Given the description of an element on the screen output the (x, y) to click on. 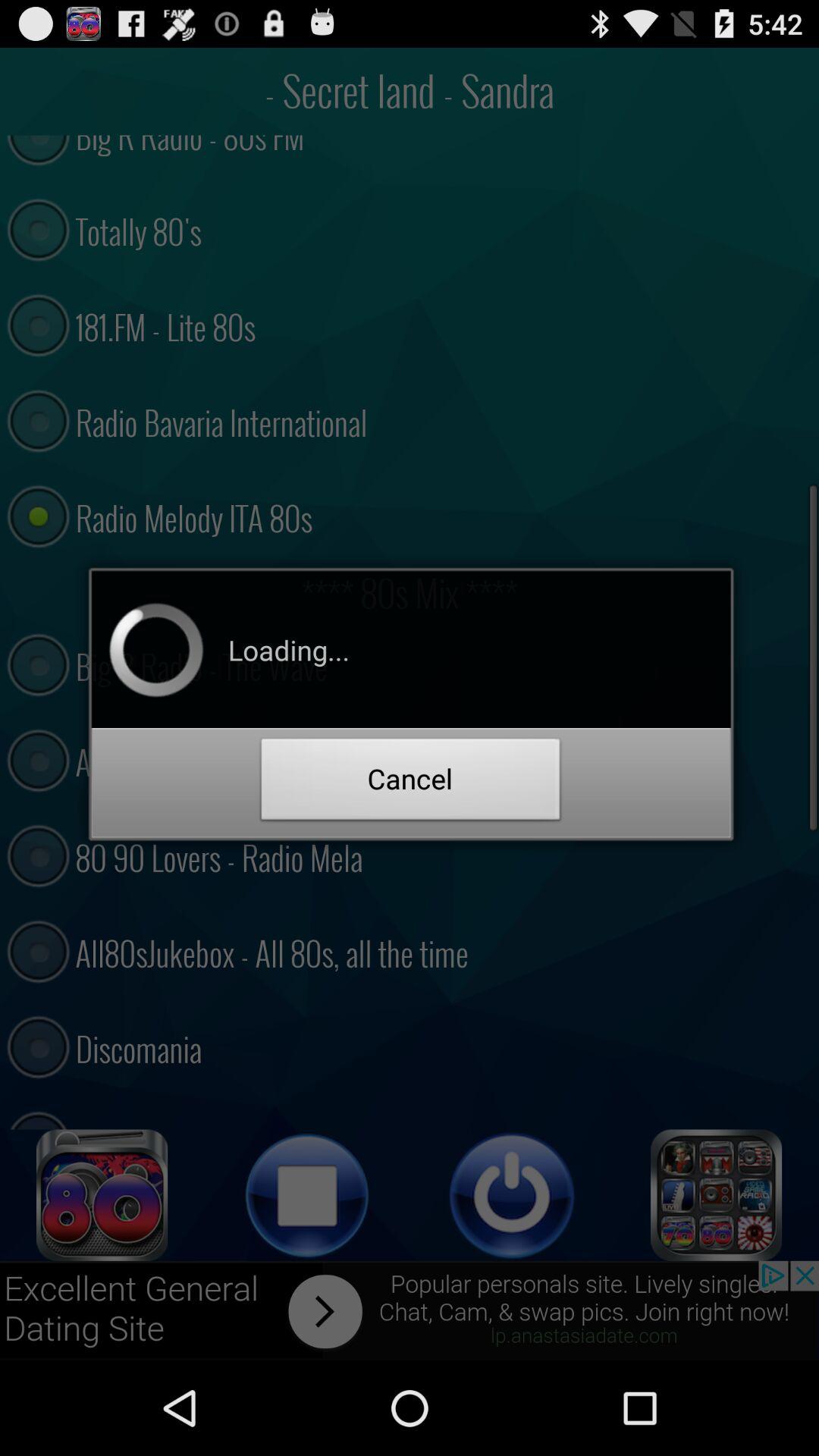
open menu tiles (716, 1194)
